Given the description of an element on the screen output the (x, y) to click on. 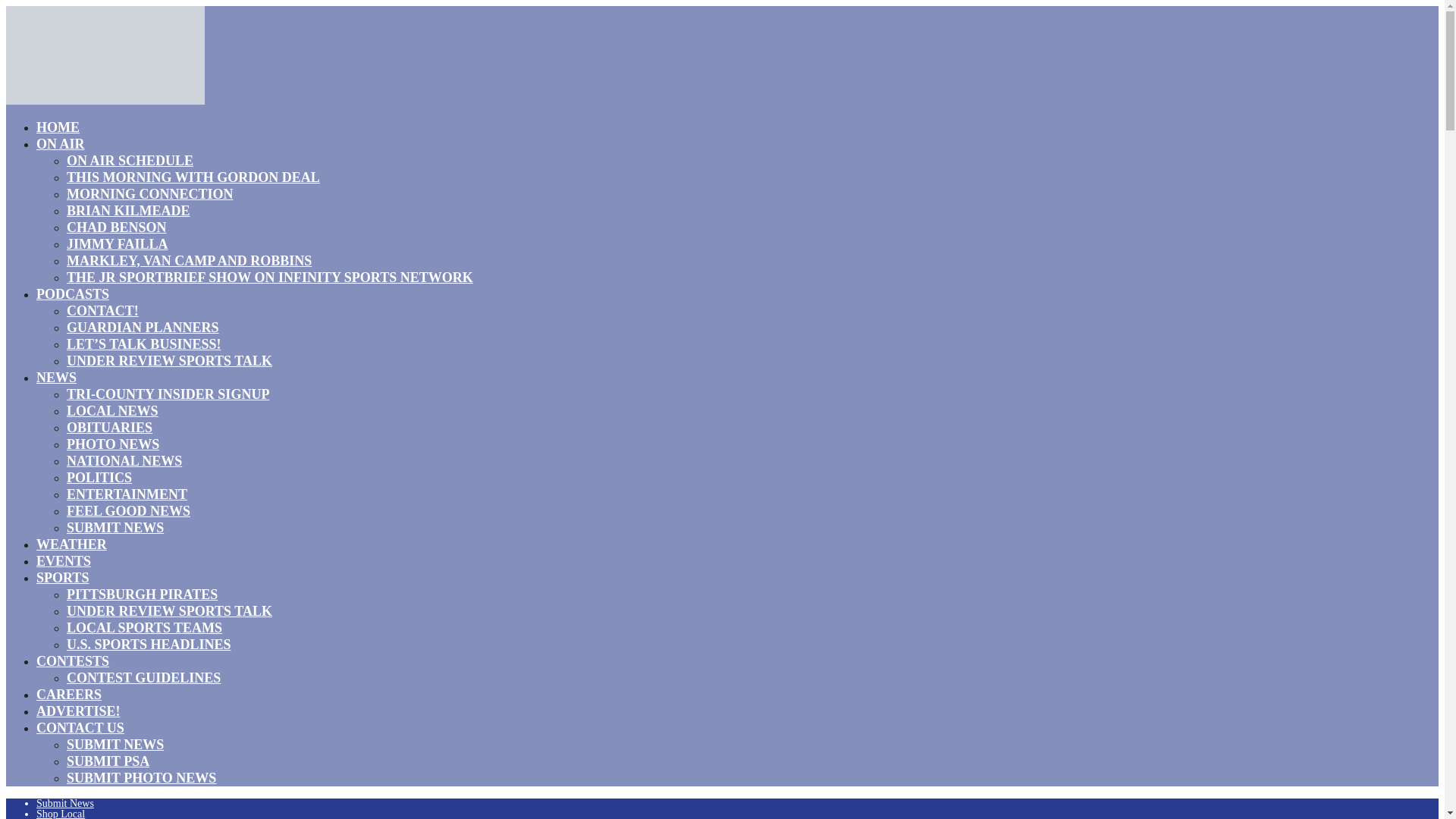
JIMMY FAILLA (117, 243)
CONTESTS (72, 660)
TRI-COUNTY INSIDER SIGNUP (167, 394)
OBITUARIES (109, 427)
BRIAN KILMEADE (128, 210)
U.S. SPORTS HEADLINES (148, 644)
EVENTS (63, 560)
PODCASTS (72, 293)
NEWS (56, 377)
CONTACT! (102, 310)
